Given the description of an element on the screen output the (x, y) to click on. 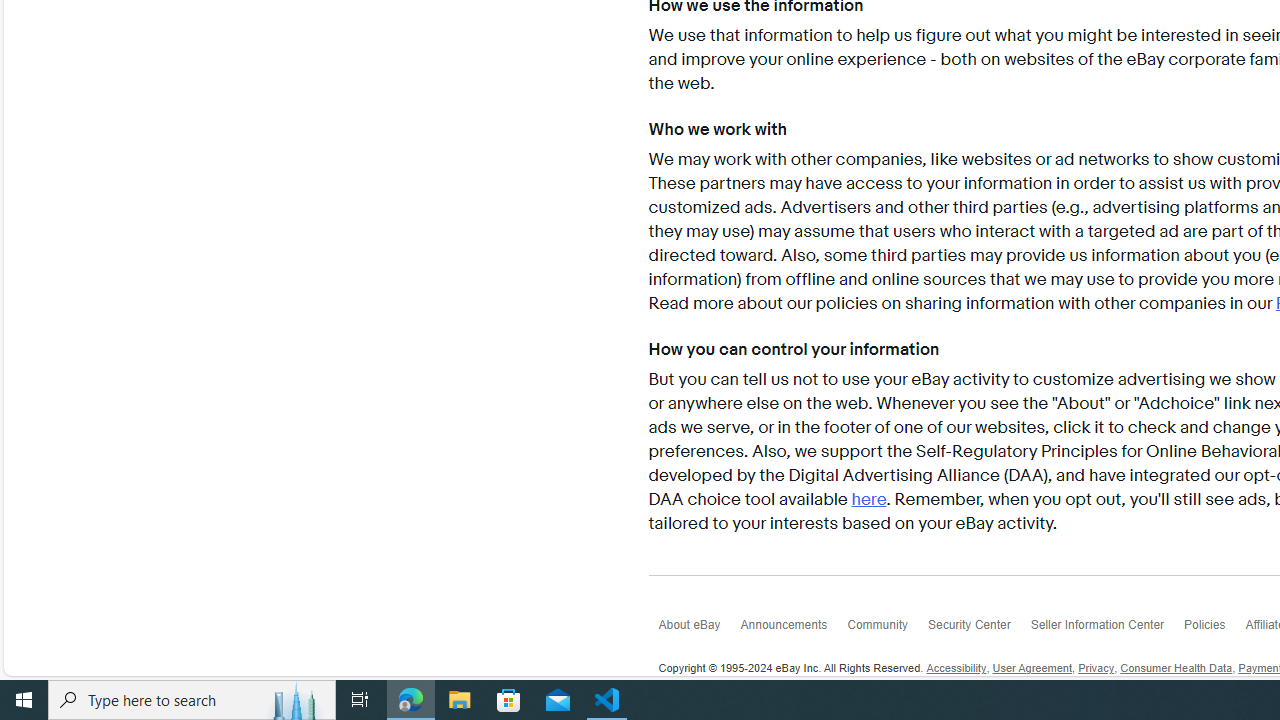
Security Center (978, 630)
Announcements (793, 630)
